Given the description of an element on the screen output the (x, y) to click on. 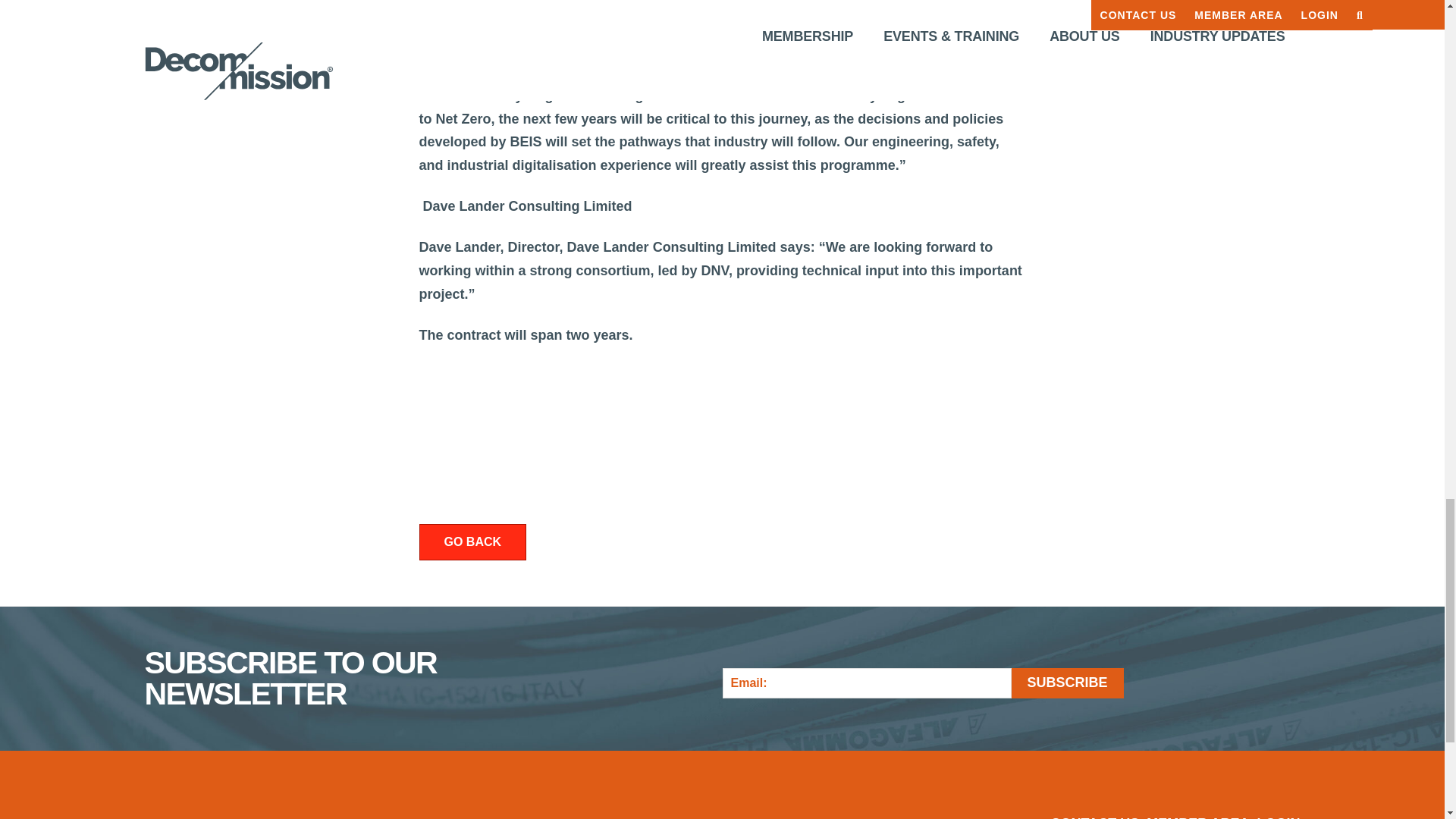
Return to the previous page (472, 542)
Email: (866, 683)
Return to the homepage (264, 798)
